Given the description of an element on the screen output the (x, y) to click on. 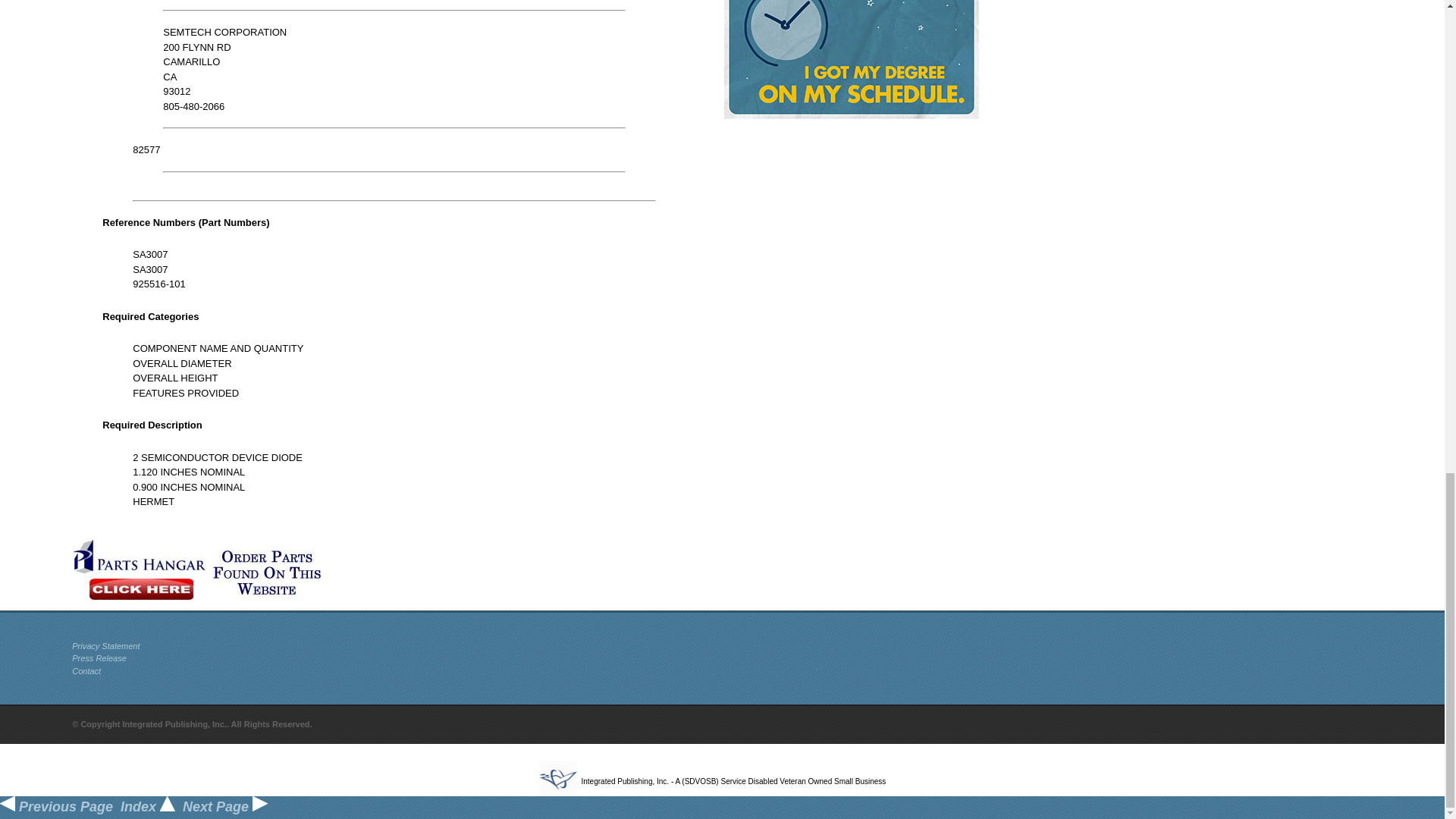
Press Release (98, 657)
Contact (85, 670)
Privacy Statement (105, 645)
